Given the description of an element on the screen output the (x, y) to click on. 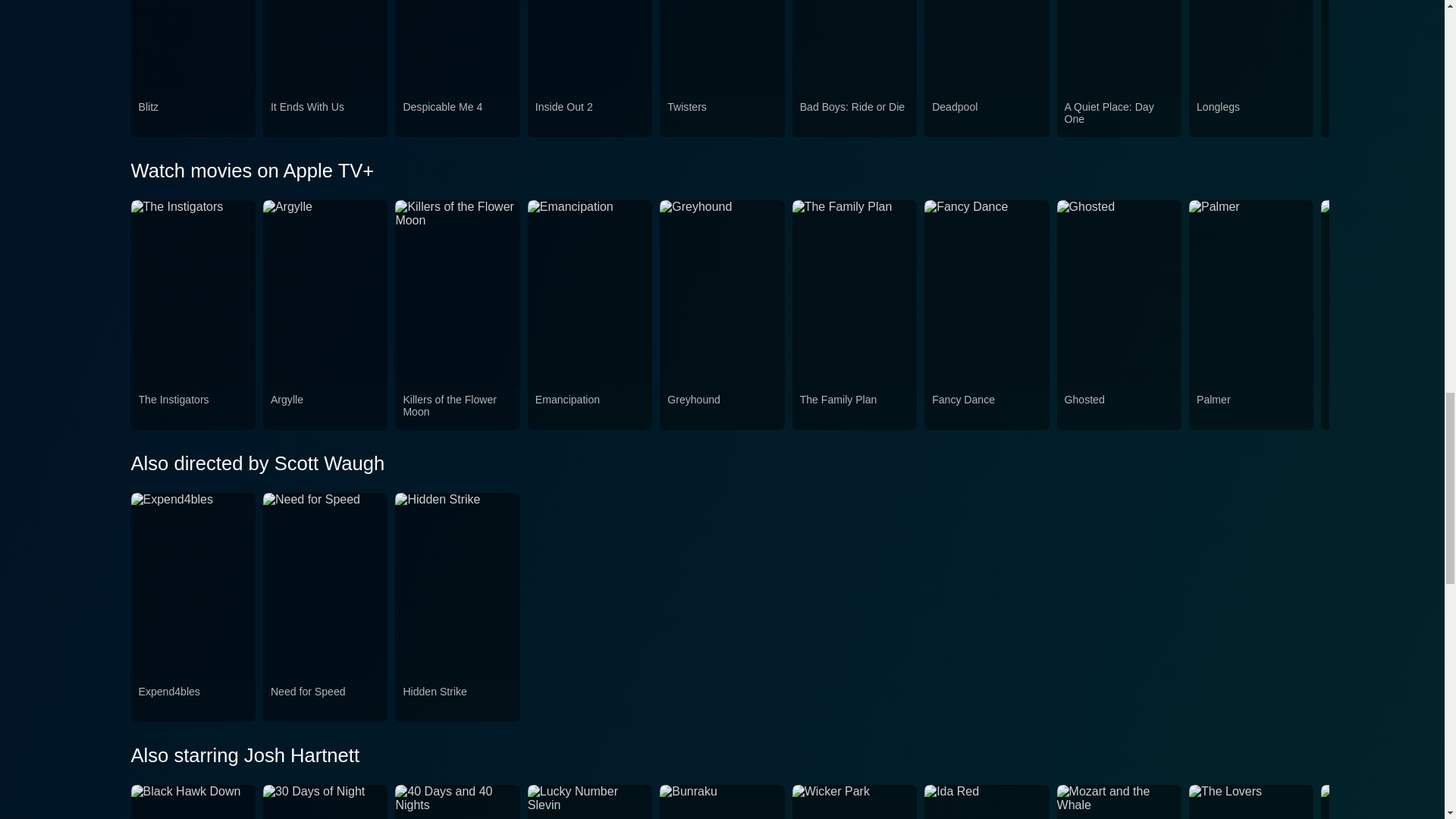
Blitz (192, 115)
Bad Boys: Ride or Die (853, 115)
Despicable Me 4 (457, 115)
It Ends With Us (325, 115)
Inside Out 2 (590, 115)
Twisters (721, 115)
